Given the description of an element on the screen output the (x, y) to click on. 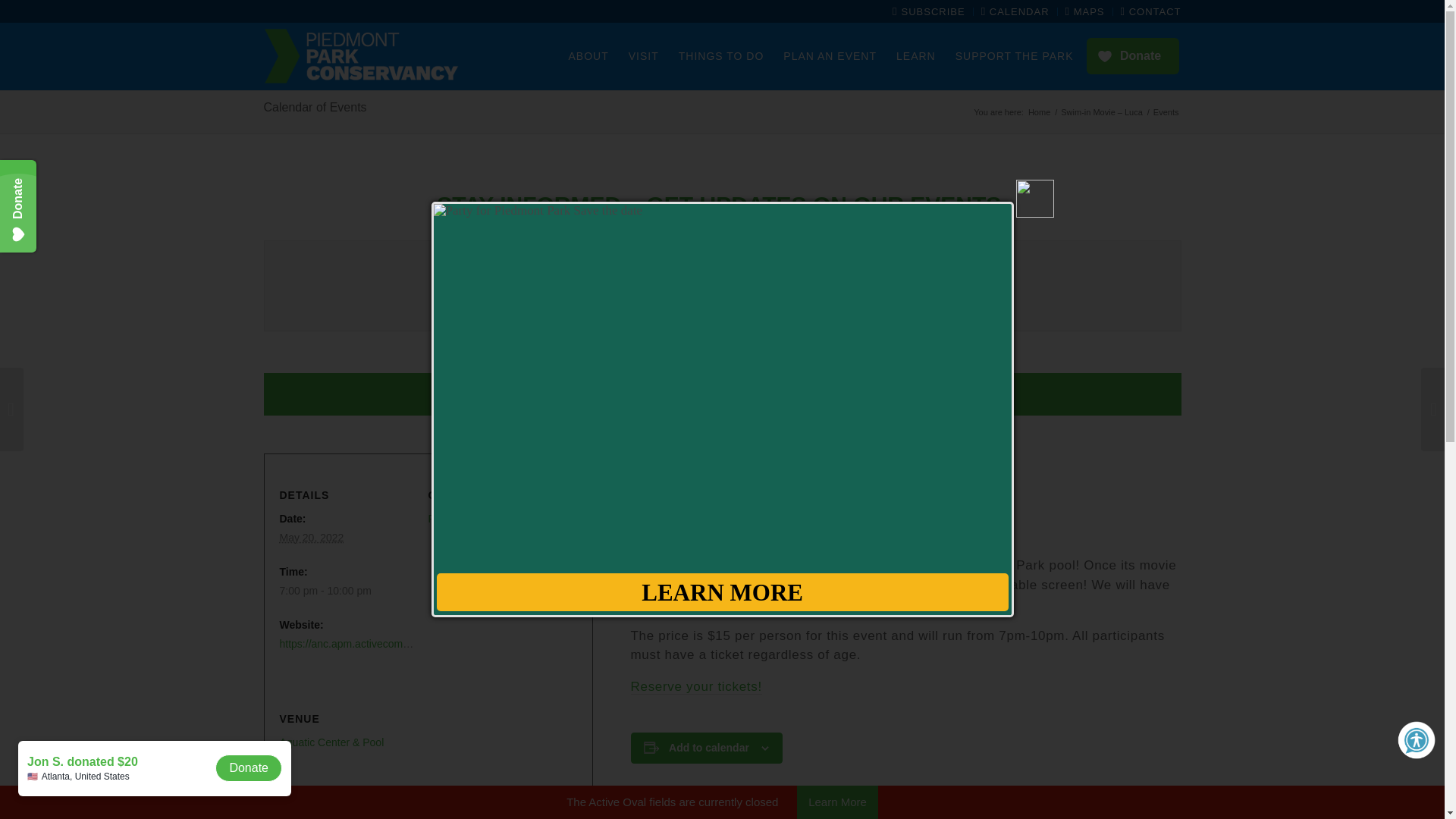
Piedmont Park Conservancy (495, 518)
ABOUT (587, 55)
2022-05-20 (346, 590)
Donate Button (1131, 56)
2022-05-20 (311, 537)
Subscribe (878, 274)
Piedmont Park Conservancy, Inc. (1039, 112)
SUBSCRIBE (928, 11)
CONTACT (1150, 11)
CALENDAR (1015, 11)
MAPS (1085, 11)
PLAN AN EVENT (829, 55)
THINGS TO DO (721, 55)
Events (1165, 112)
